Given the description of an element on the screen output the (x, y) to click on. 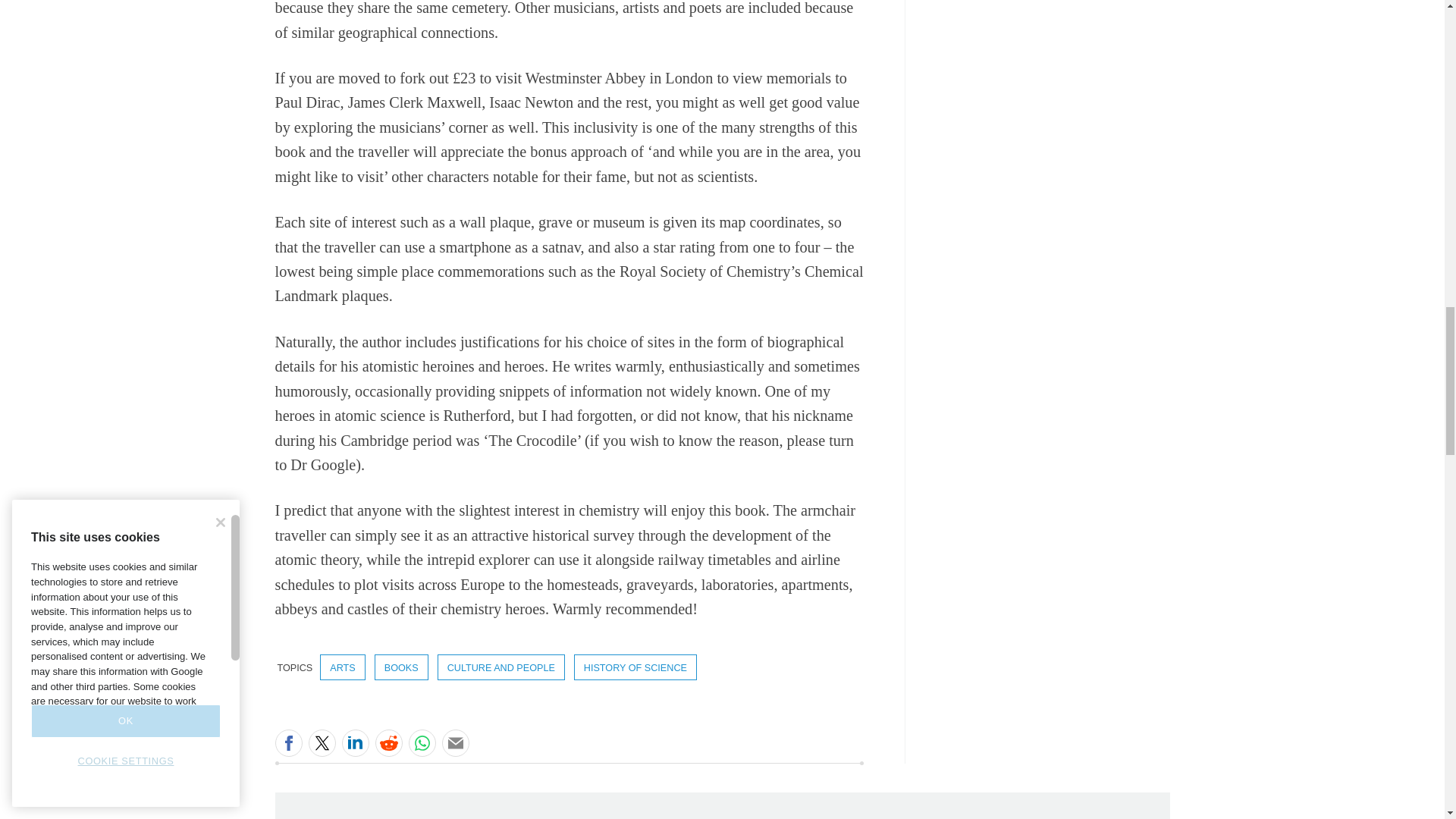
Share this by email (454, 742)
Share this on LinkedIn (354, 742)
Share this on Reddit (387, 742)
Share this on Facebook (288, 742)
Share this on WhatsApp (421, 742)
